Given the description of an element on the screen output the (x, y) to click on. 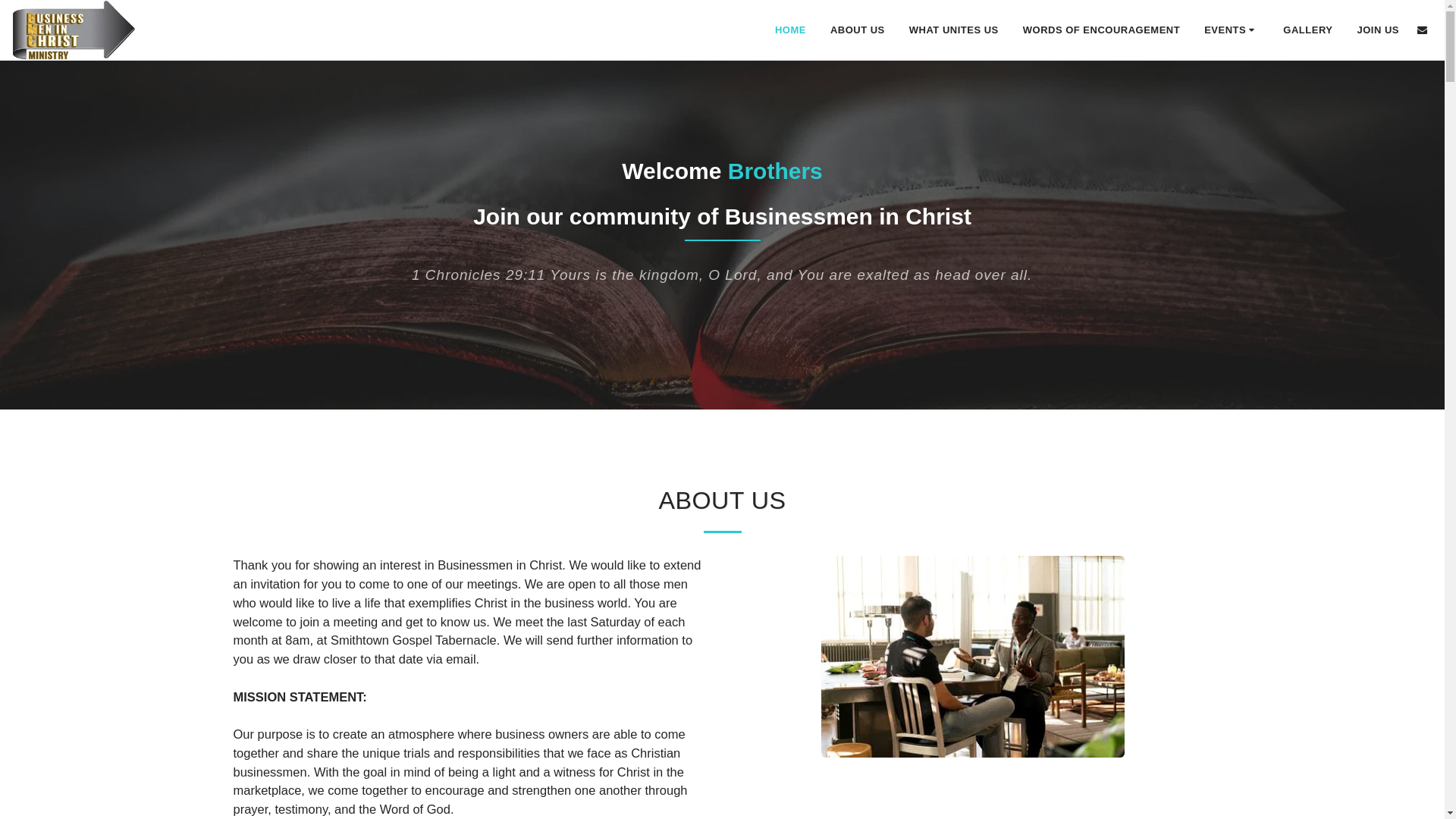
WHAT UNITES US (954, 29)
JOIN US (1377, 29)
WORDS OF ENCOURAGEMENT (1101, 29)
HOME (789, 29)
GALLERY (1307, 29)
EVENTS   (1230, 29)
ABOUT US (857, 29)
